Given the description of an element on the screen output the (x, y) to click on. 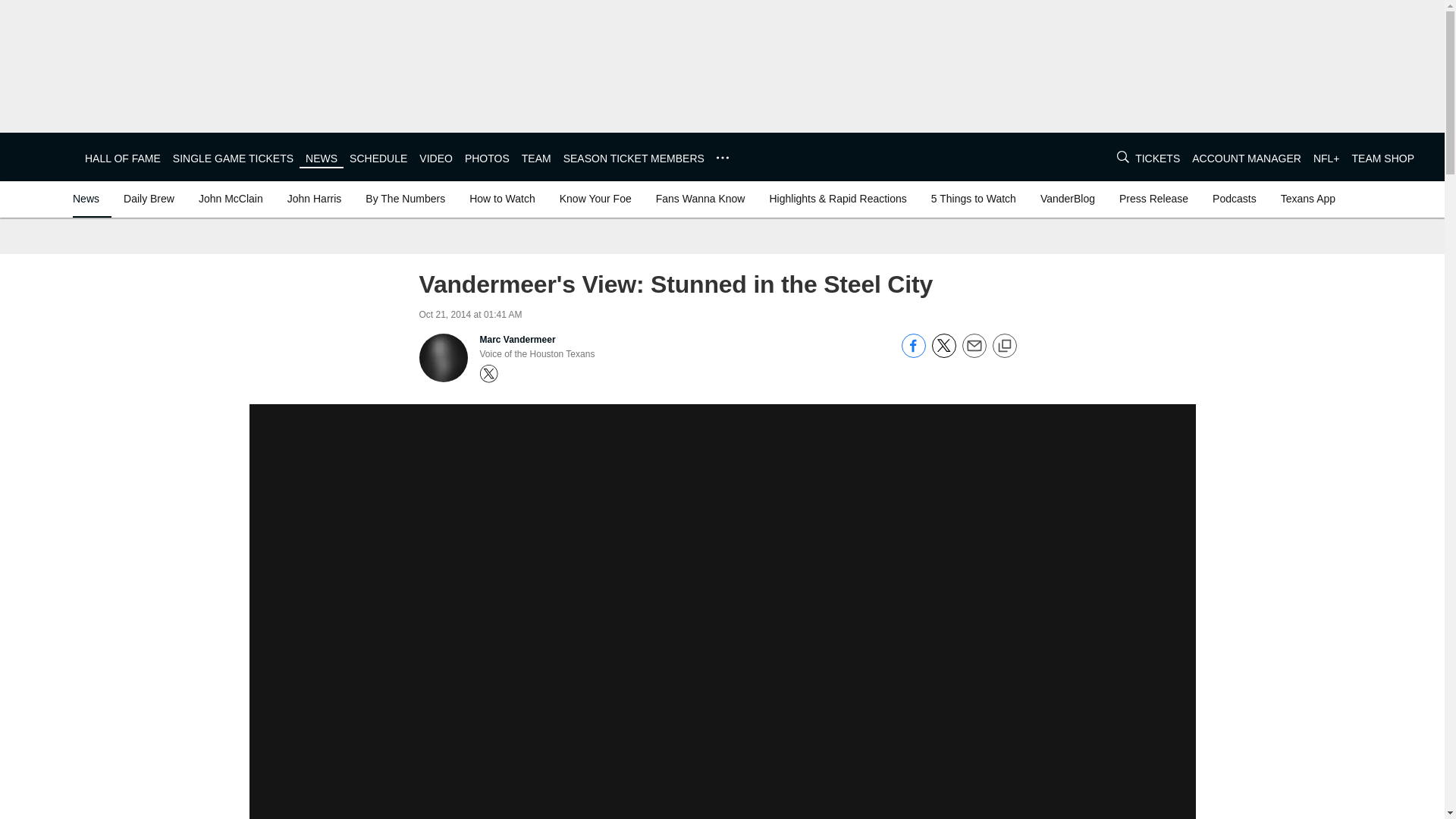
NEWS (321, 158)
How to Watch (502, 198)
SCHEDULE (378, 158)
SEASON TICKET MEMBERS (633, 158)
TICKETS (1157, 158)
SINGLE GAME TICKETS (233, 158)
ACCOUNT MANAGER (1246, 158)
Link to club's homepage (42, 156)
News (88, 198)
NEWS (321, 158)
Fans Wanna Know (700, 198)
PHOTOS (486, 158)
HALL OF FAME (122, 158)
... (722, 157)
John McClain (230, 198)
